Given the description of an element on the screen output the (x, y) to click on. 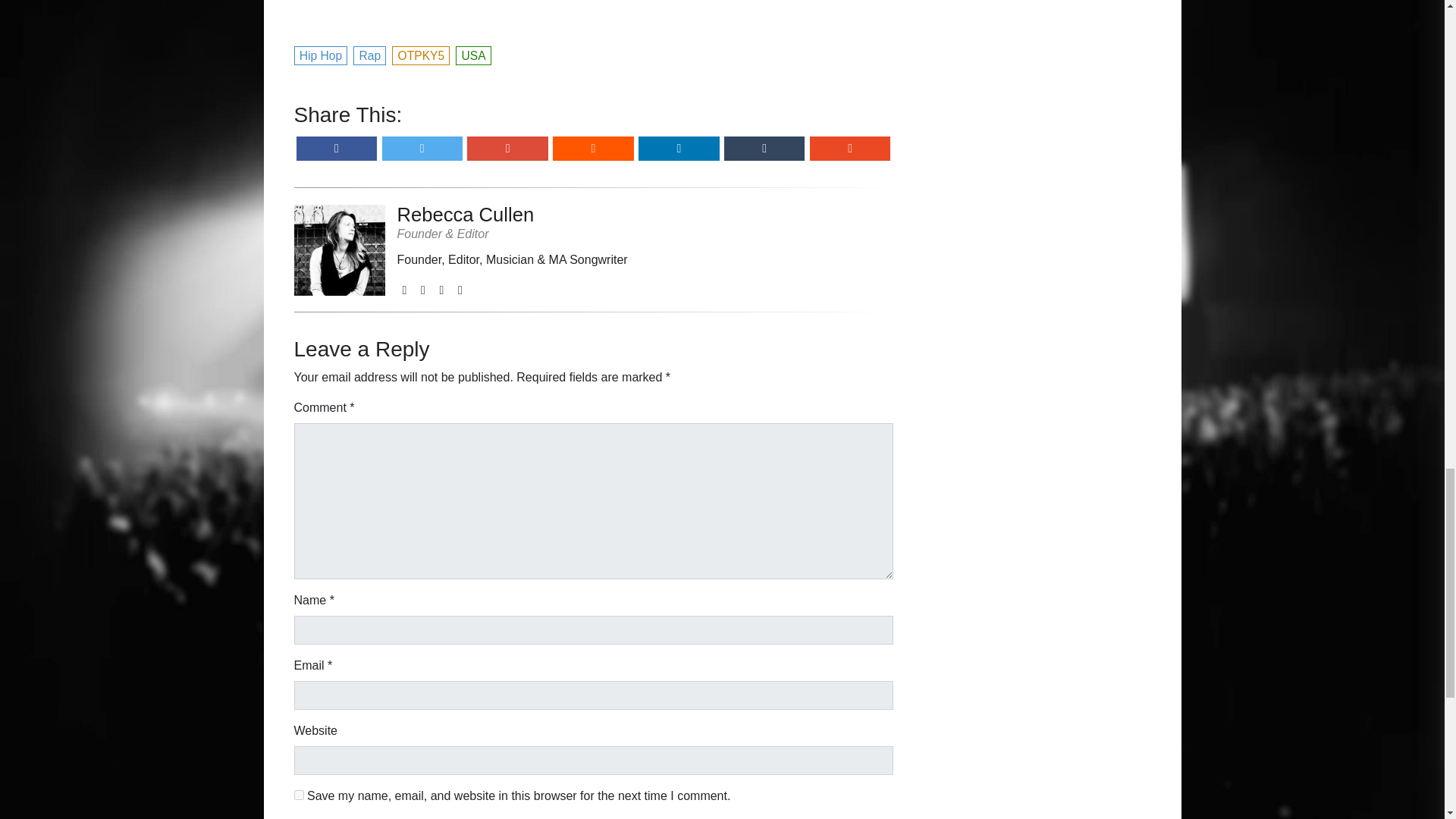
Hip Hop (321, 54)
yes (299, 795)
Rebecca Cullen (512, 214)
USA (473, 54)
Rap (370, 54)
Spotify Embed: NERDY TALK (593, 12)
OTPKY5 (421, 54)
